Given the description of an element on the screen output the (x, y) to click on. 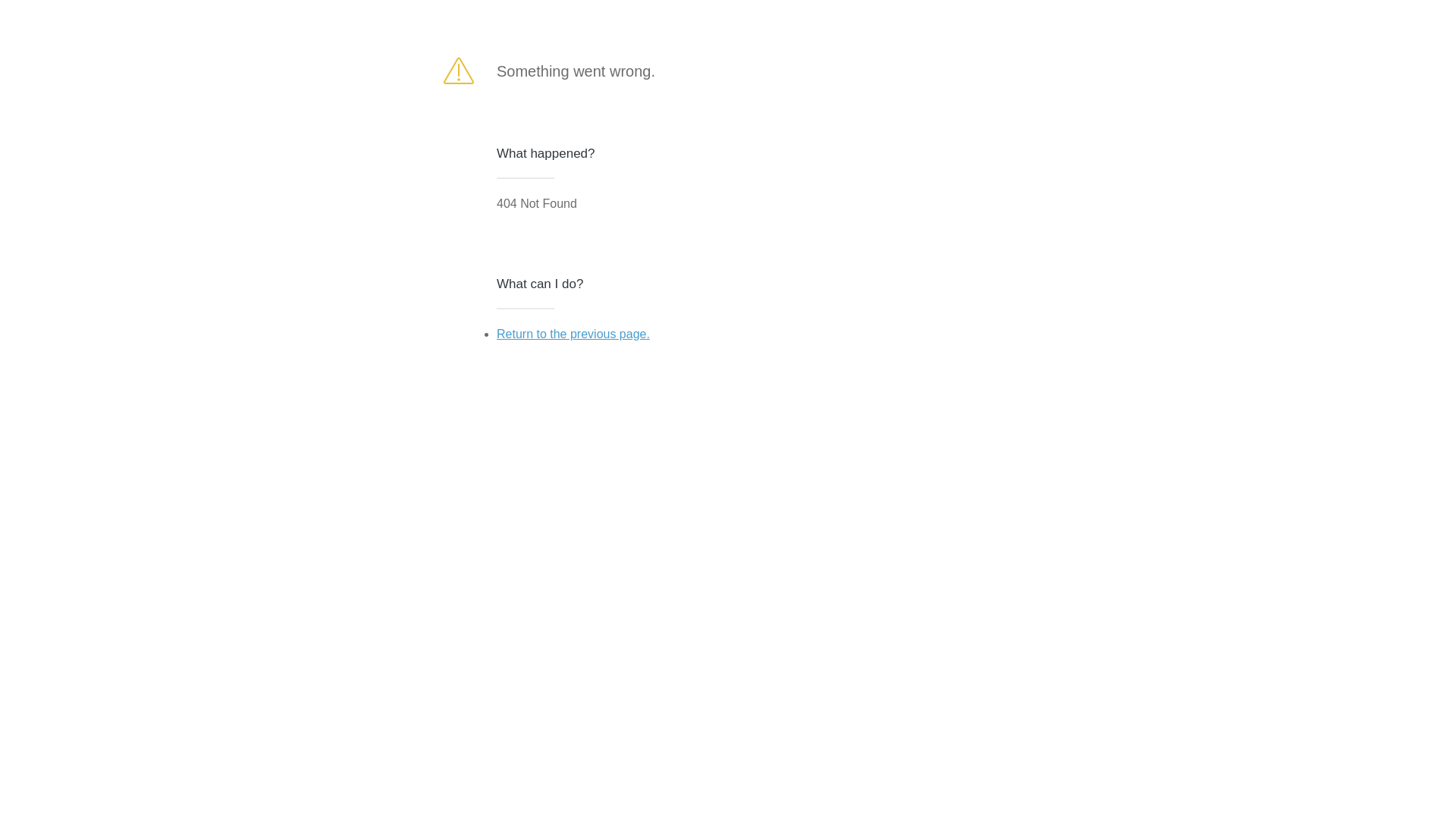
Return to the previous page. Element type: text (572, 333)
